Given the description of an element on the screen output the (x, y) to click on. 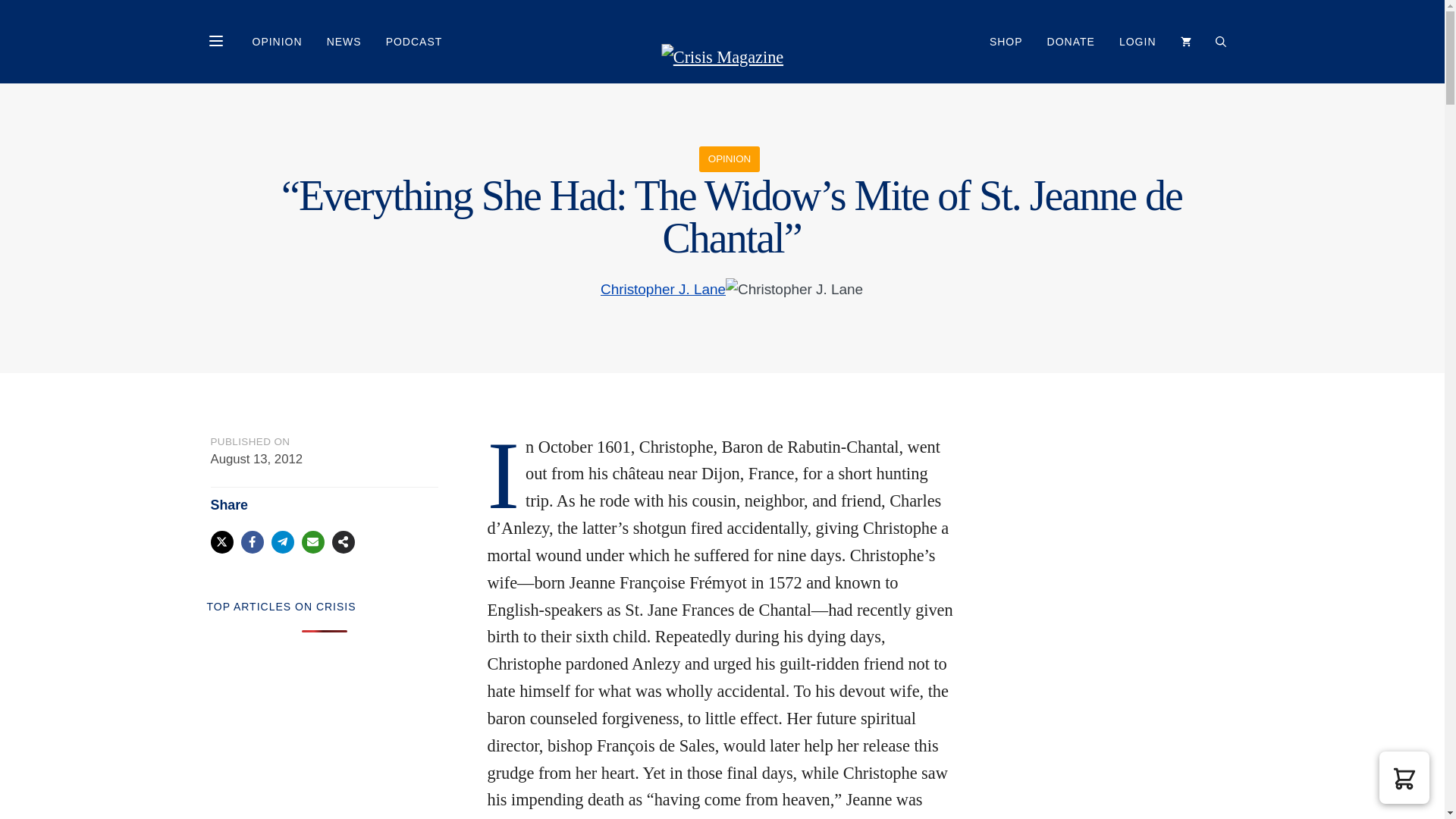
NEWS (344, 41)
LOGIN (1137, 41)
Christopher J. Lane (662, 288)
OPINION (277, 41)
PODCAST (414, 41)
DONATE (1070, 41)
SHOP (1005, 41)
